Given the description of an element on the screen output the (x, y) to click on. 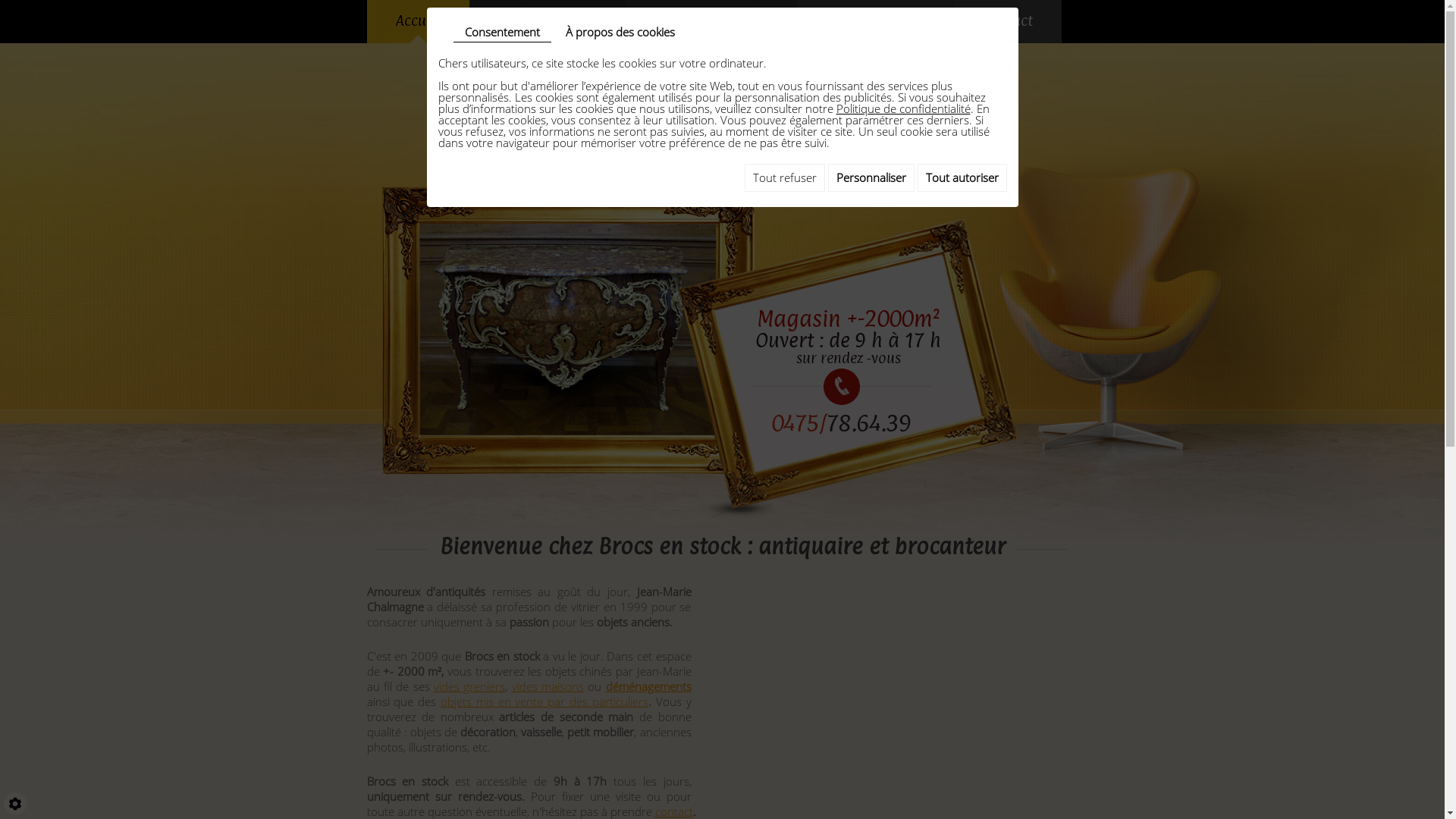
Tout refuser Element type: text (784, 177)
objets mis en vente par des particuliers Element type: text (544, 701)
vides greniers Element type: text (469, 685)
Accueil Element type: text (418, 21)
0475/78.64.39 Element type: text (841, 422)
Consentement Element type: text (502, 32)
Personnaliser Element type: text (871, 177)
Tout autoriser Element type: text (962, 177)
Contact Element type: text (1007, 21)
Vide maisons et greniers Element type: text (546, 21)
vides maisons Element type: text (547, 685)
Vente articles de seconde main Element type: text (710, 21)
